Given the description of an element on the screen output the (x, y) to click on. 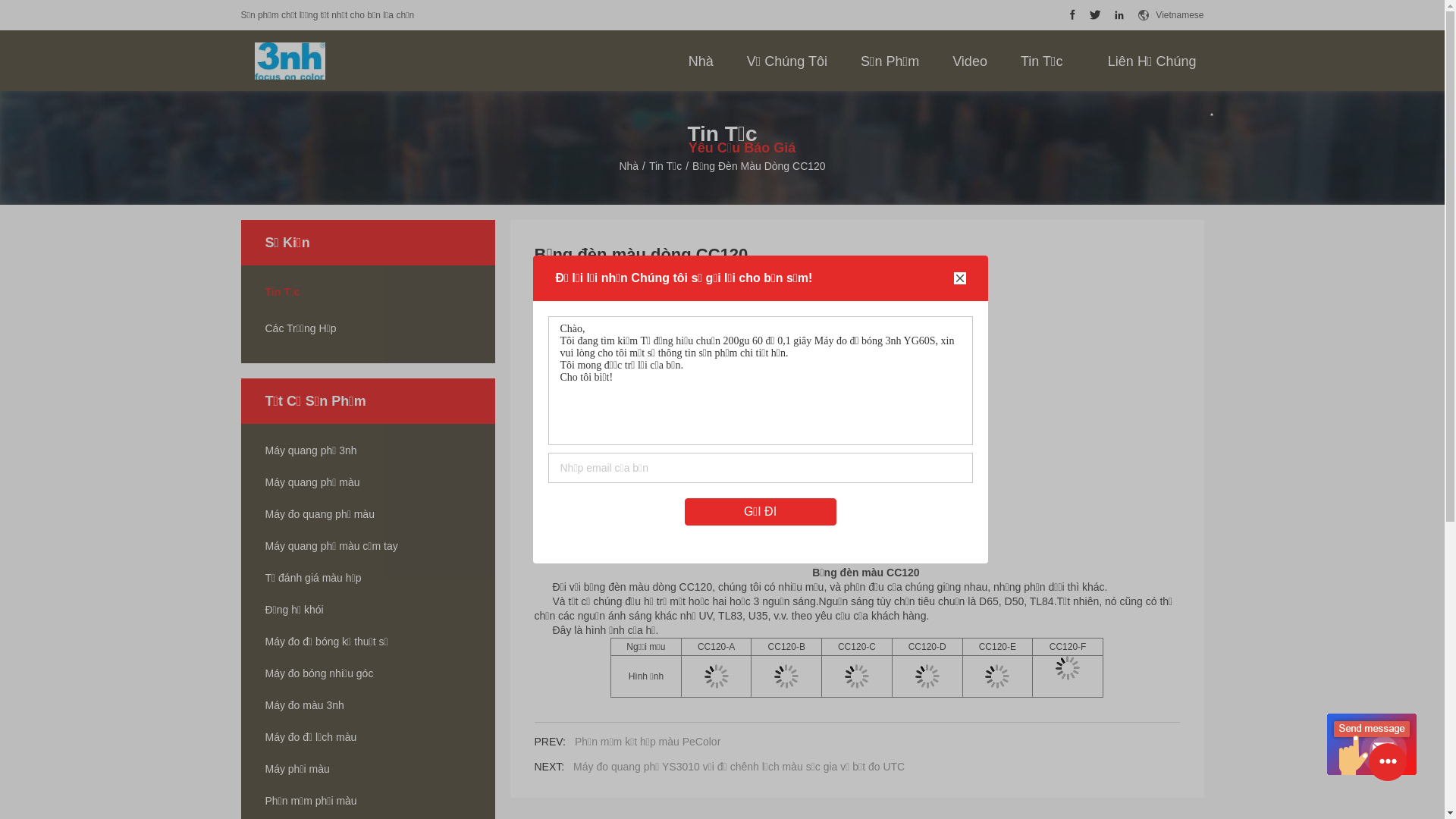
Shenzhen ThreeNH Technology Co., Ltd. Facebook Element type: hover (1072, 15)
Shenzhen ThreeNH Technology Co., Ltd. Element type: hover (289, 60)
Video Element type: text (969, 60)
Shenzhen ThreeNH Technology Co., Ltd. LinkedIn Element type: hover (1119, 15)
Shenzhen ThreeNH Technology Co., Ltd. Twitter Element type: hover (1095, 15)
